Given the description of an element on the screen output the (x, y) to click on. 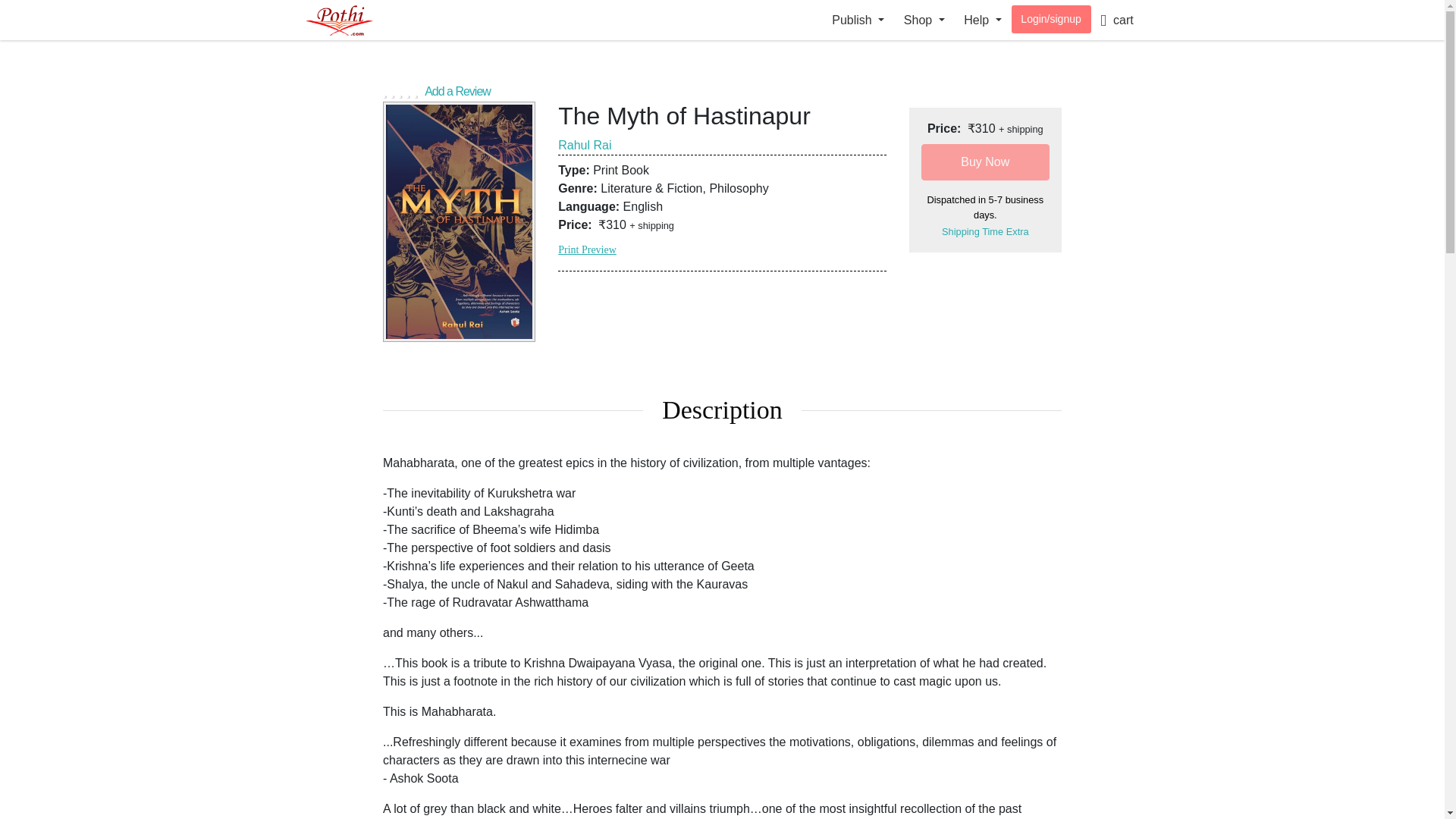
Print Preview (586, 249)
Publish (857, 20)
Add a Review (721, 89)
Rahul Rai (584, 144)
Buy Now (985, 162)
pothi.com (354, 20)
Shop (923, 20)
Shipping Time Extra (985, 231)
Help (983, 20)
  cart (1116, 20)
